Given the description of an element on the screen output the (x, y) to click on. 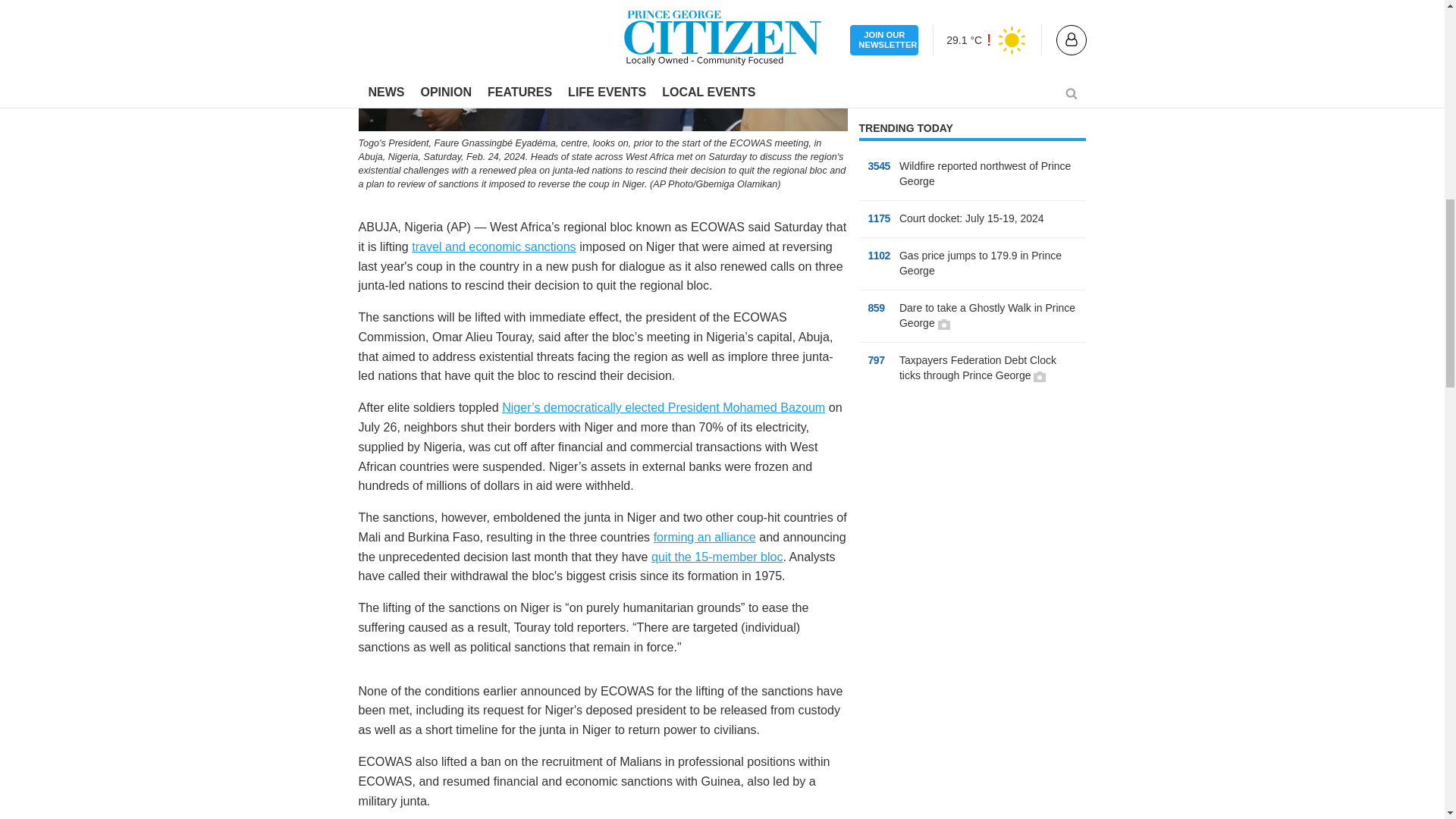
118559 (878, 4)
118560 (878, 24)
3rd party ad content (972, 523)
Has a gallery (1039, 377)
Has a gallery (943, 324)
